Given the description of an element on the screen output the (x, y) to click on. 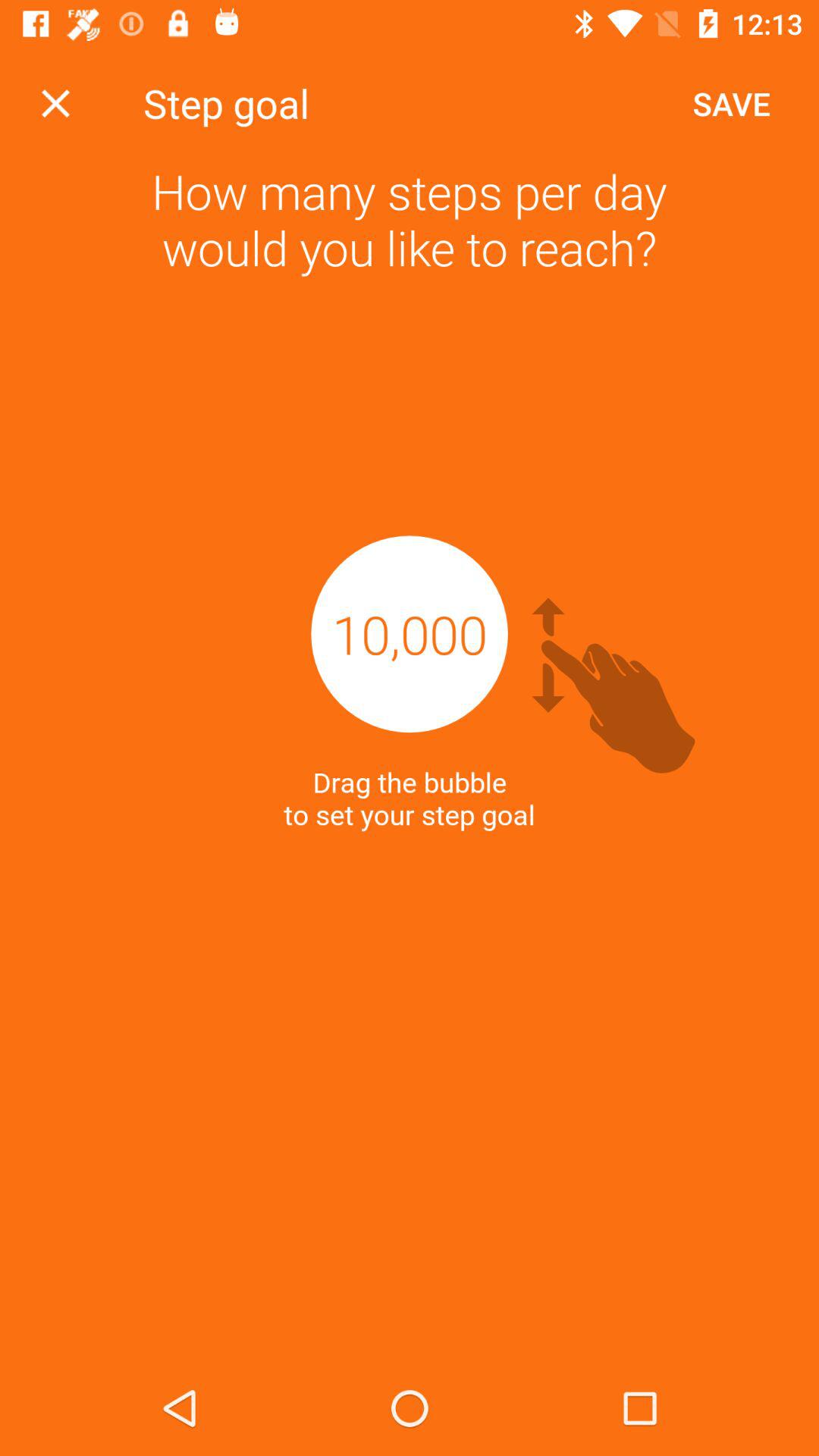
turn on icon next to step goal icon (731, 103)
